Given the description of an element on the screen output the (x, y) to click on. 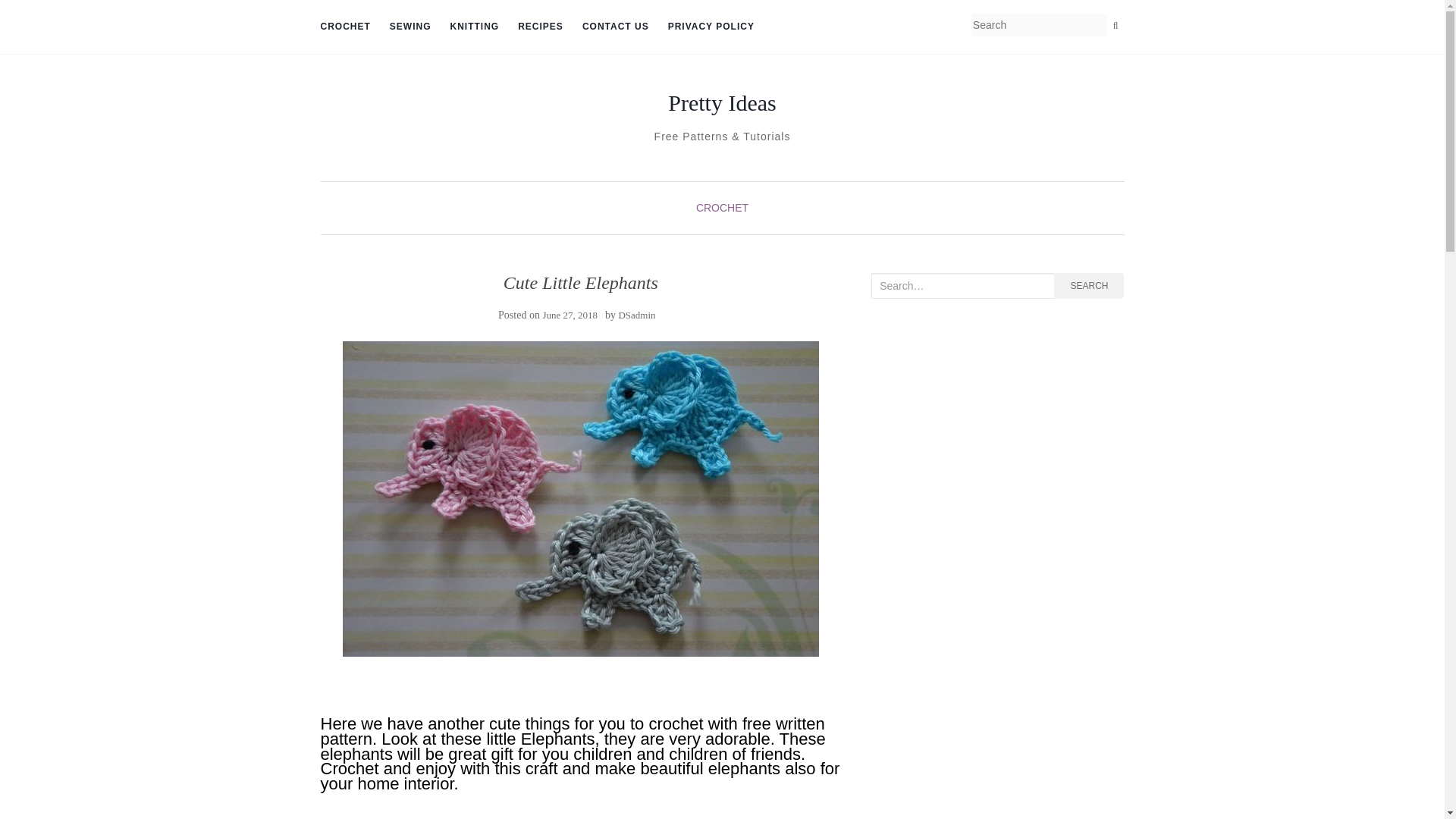
Crochet (344, 27)
Knitting (474, 27)
CROCHET (344, 27)
CROCHET (721, 207)
SEARCH (1089, 285)
Pretty Ideas (722, 102)
DSadmin (636, 315)
Contact Us (615, 27)
Search for: (962, 285)
